Given the description of an element on the screen output the (x, y) to click on. 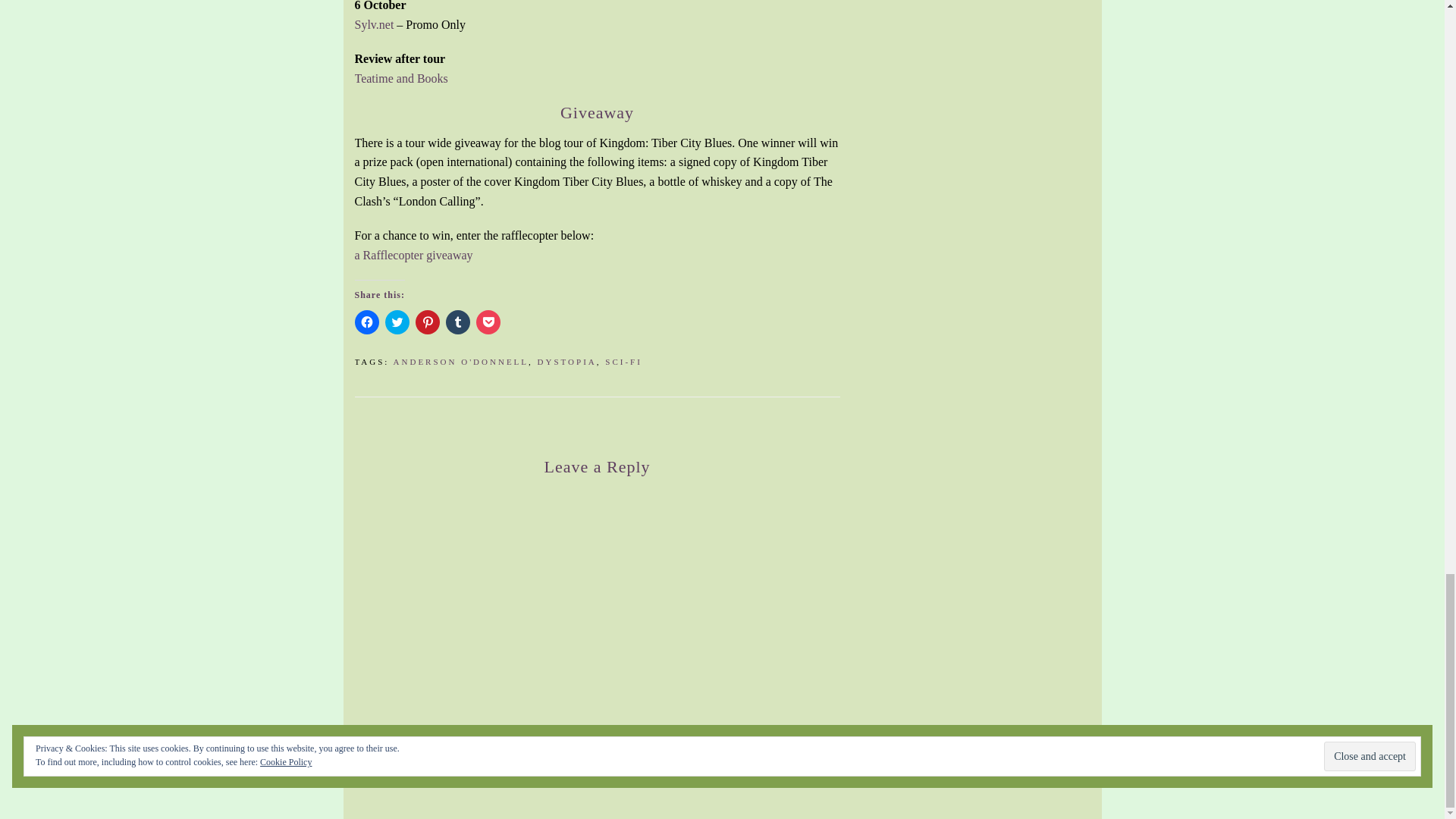
Click to share on Twitter (397, 322)
Click to share on Tumblr (457, 322)
Click to share on Facebook (366, 322)
Click to share on Pinterest (426, 322)
Click to share on Pocket (488, 322)
